Given the description of an element on the screen output the (x, y) to click on. 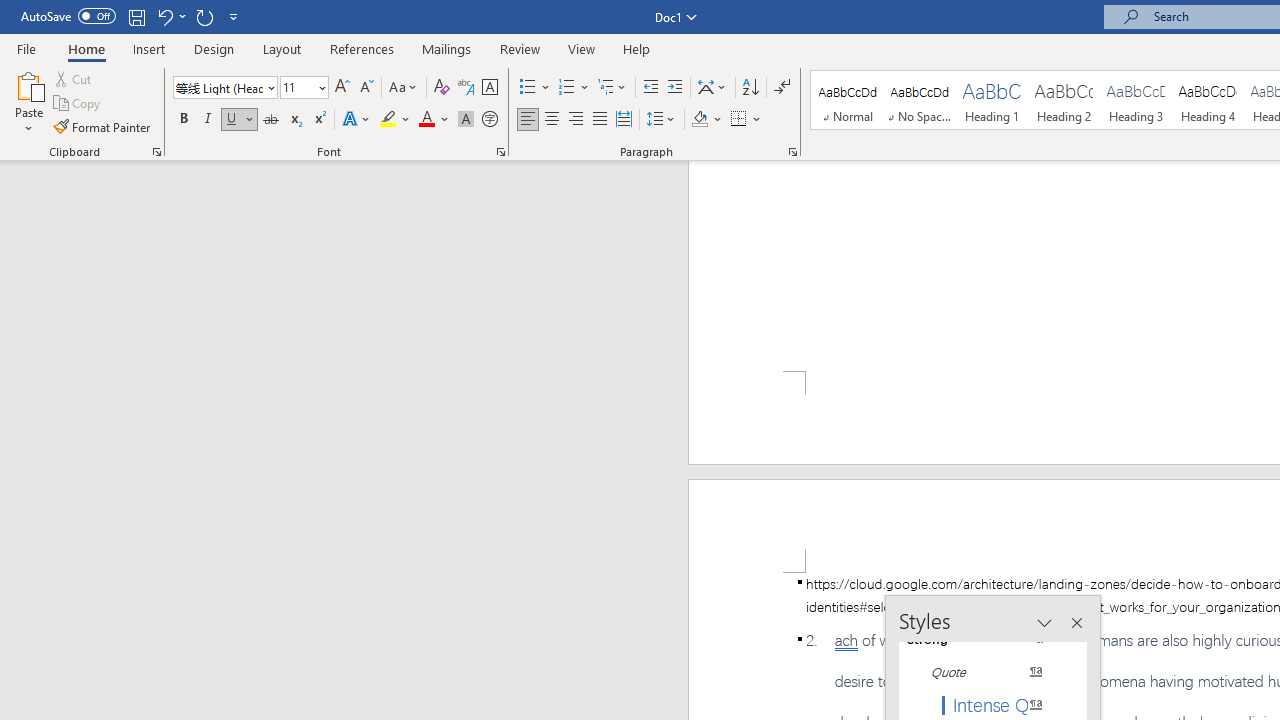
Font Color Automatic (426, 119)
